Given the description of an element on the screen output the (x, y) to click on. 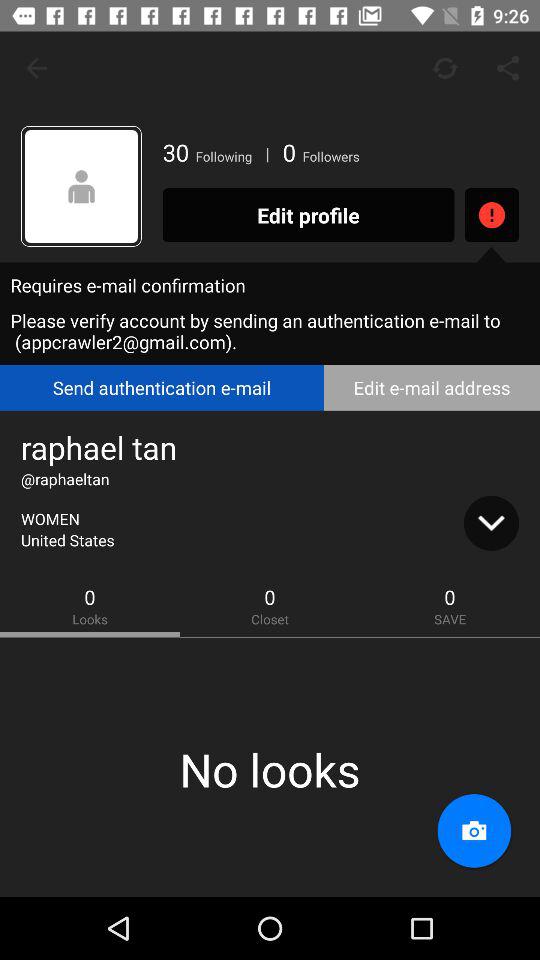
down (491, 523)
